Given the description of an element on the screen output the (x, y) to click on. 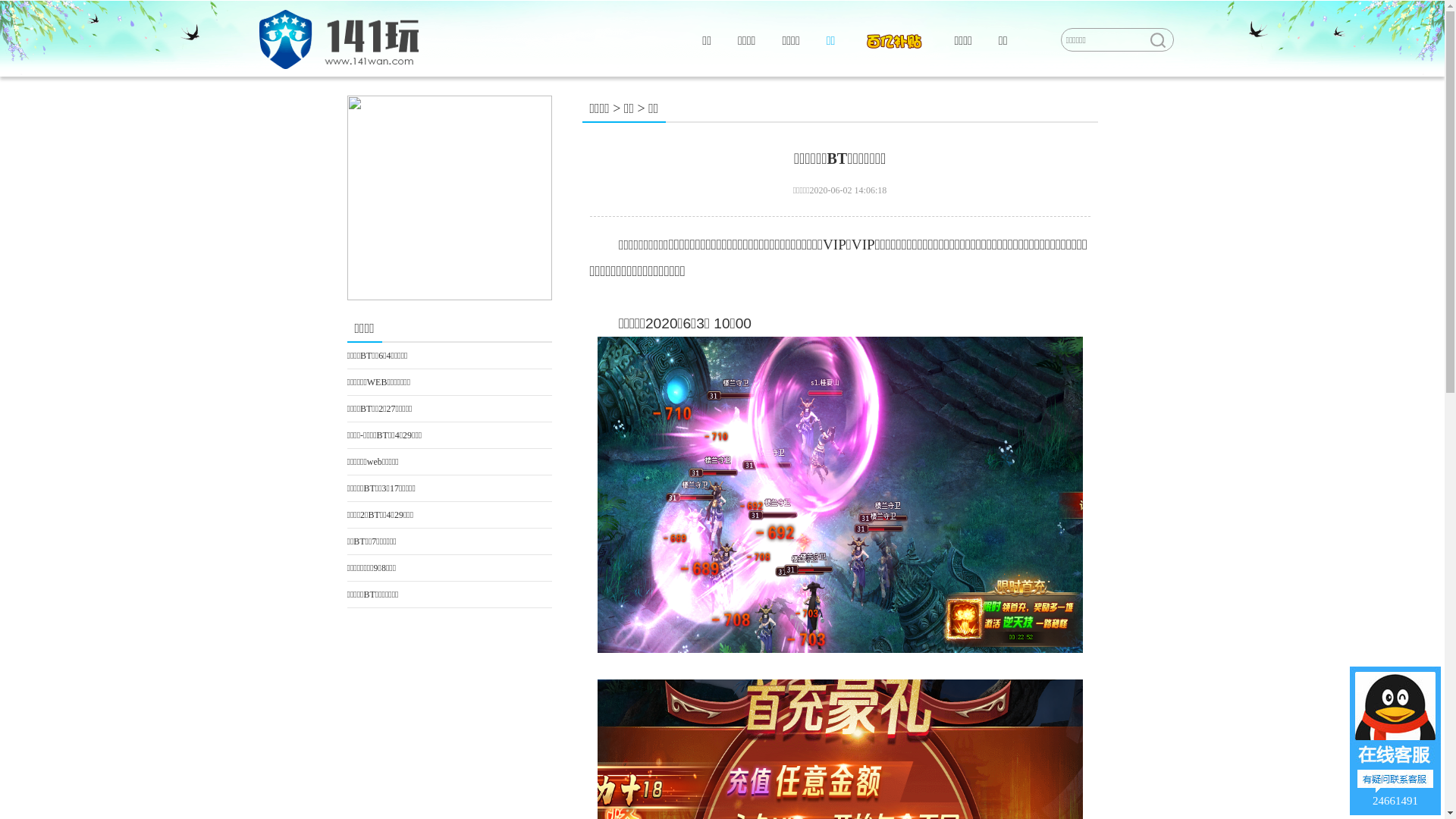
image.png Element type: hover (839, 494)
Search Element type: hover (1156, 39)
24661491 Element type: text (1394, 740)
